Given the description of an element on the screen output the (x, y) to click on. 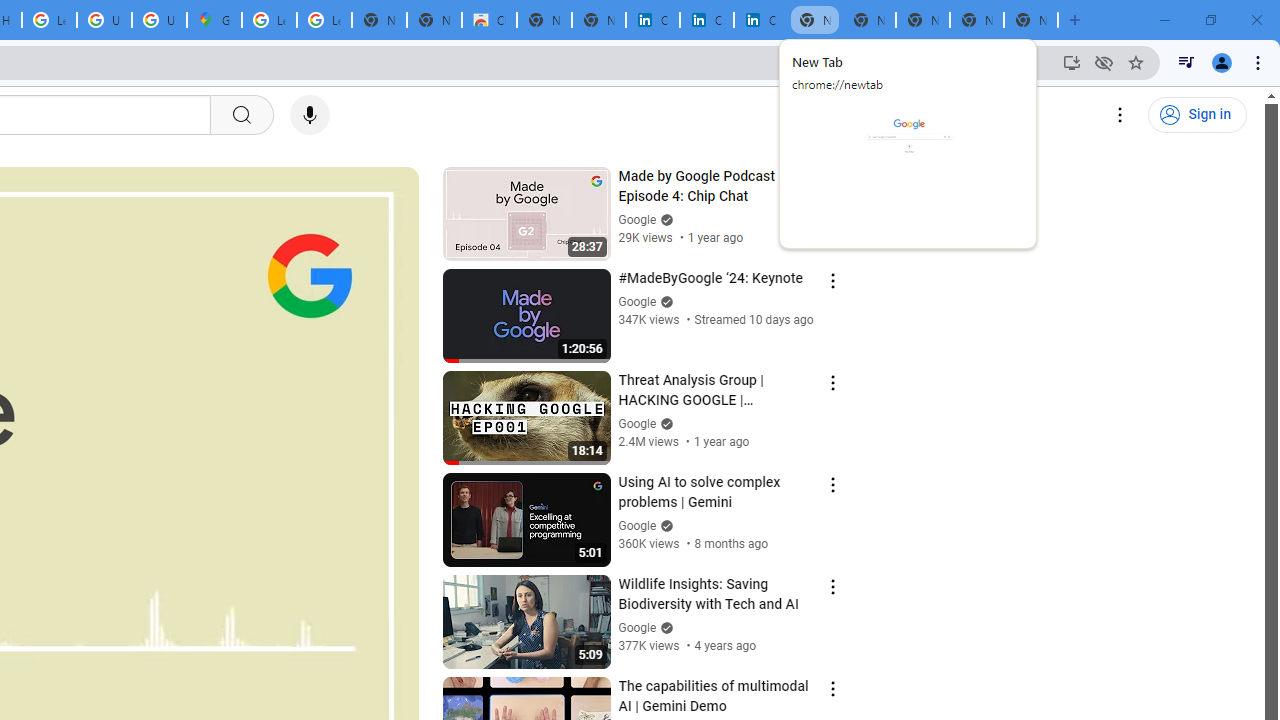
Cookie Policy | LinkedIn (652, 20)
Verified (664, 627)
Action menu (832, 688)
